Given the description of an element on the screen output the (x, y) to click on. 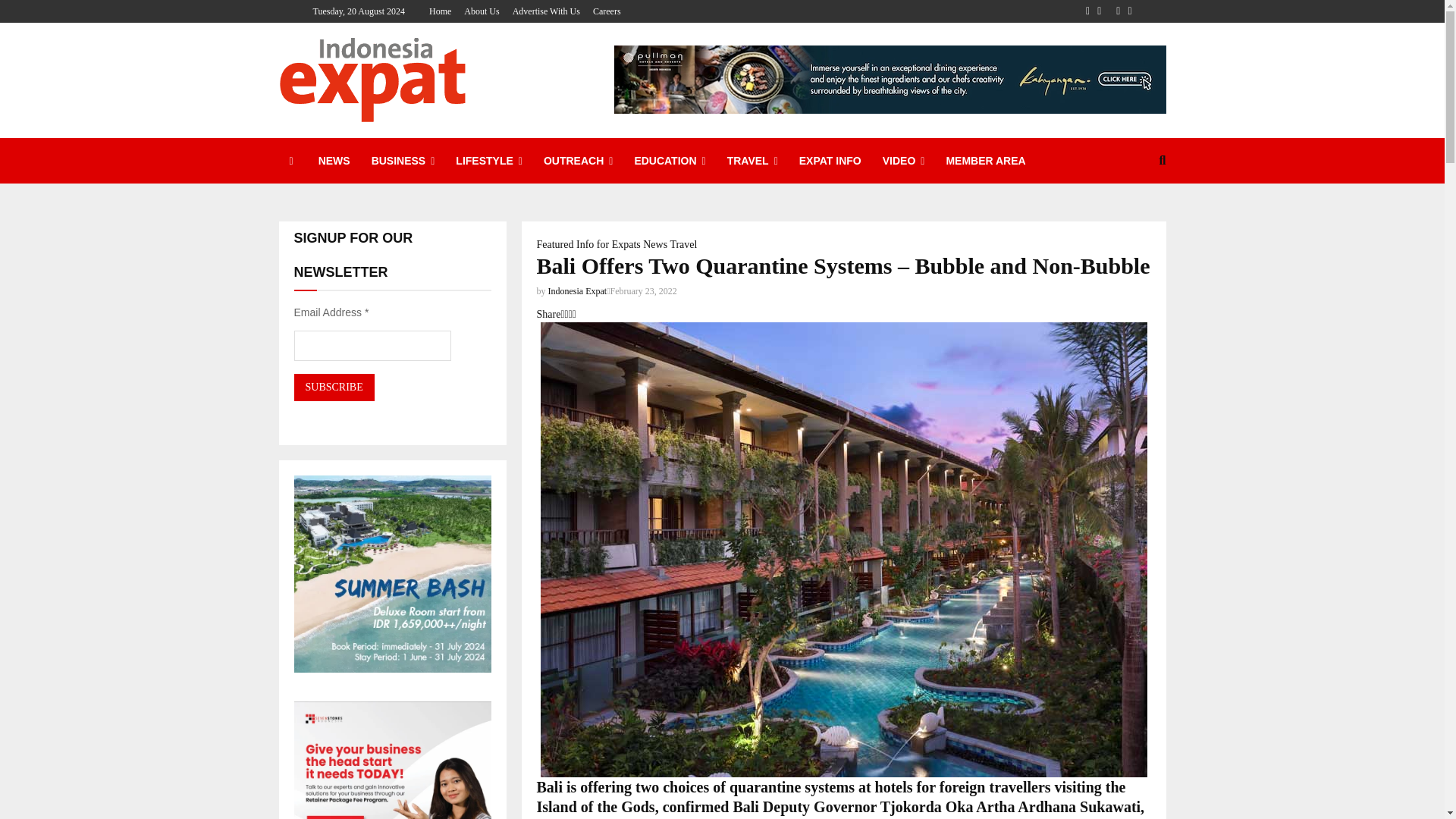
Home (440, 11)
NEWS (334, 160)
Subscribe (334, 387)
EDUCATION (669, 160)
TRAVEL (752, 160)
BUSINESS (403, 160)
EXPAT INFO (830, 160)
OUTREACH (577, 160)
About Us (481, 11)
LIFESTYLE (488, 160)
